Given the description of an element on the screen output the (x, y) to click on. 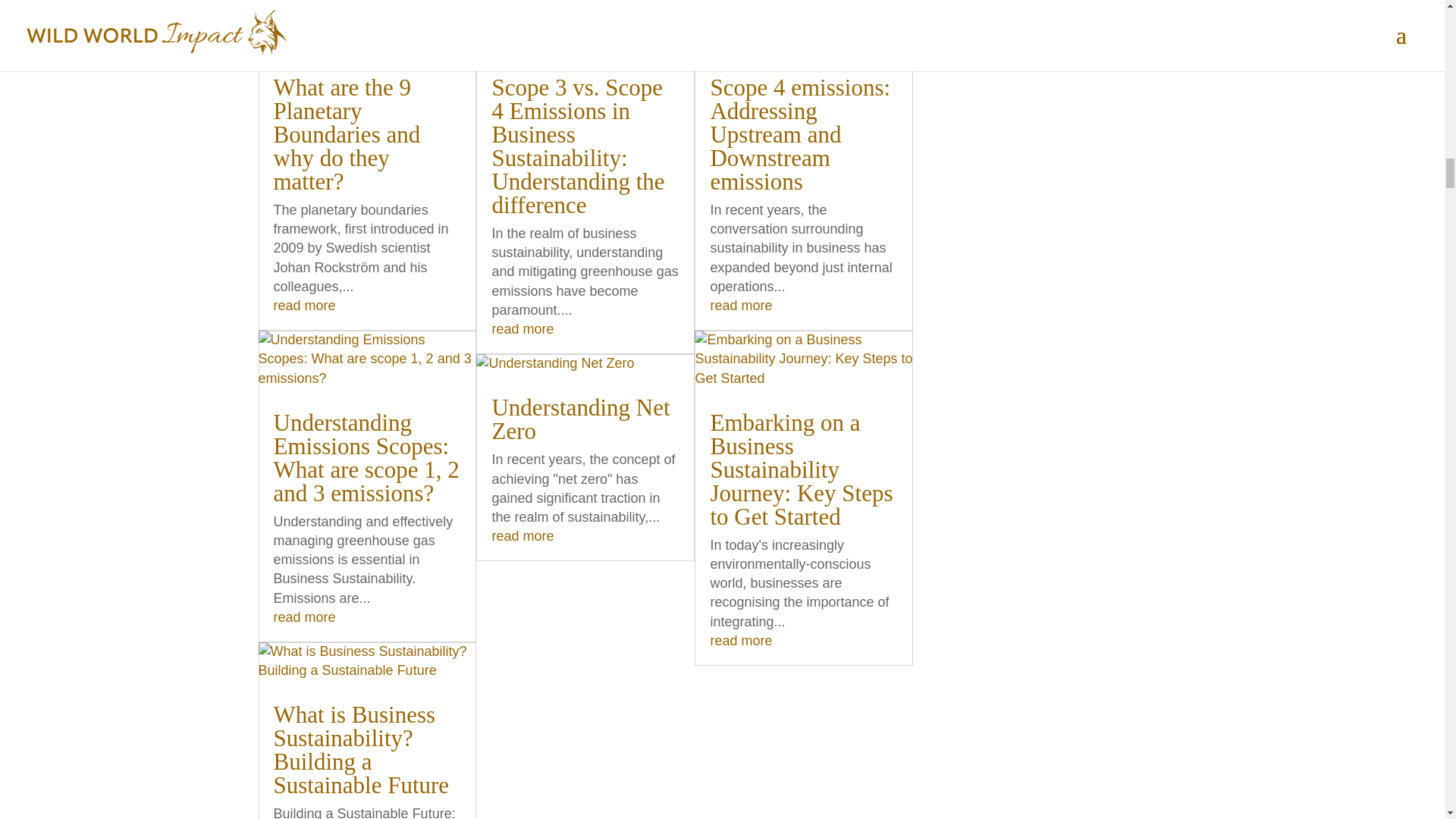
What are the 9 Planetary Boundaries and why do they matter? (346, 134)
Understanding Net Zero (580, 418)
read more (522, 328)
read more (740, 305)
read more (303, 305)
read more (522, 535)
read more (740, 640)
